Given the description of an element on the screen output the (x, y) to click on. 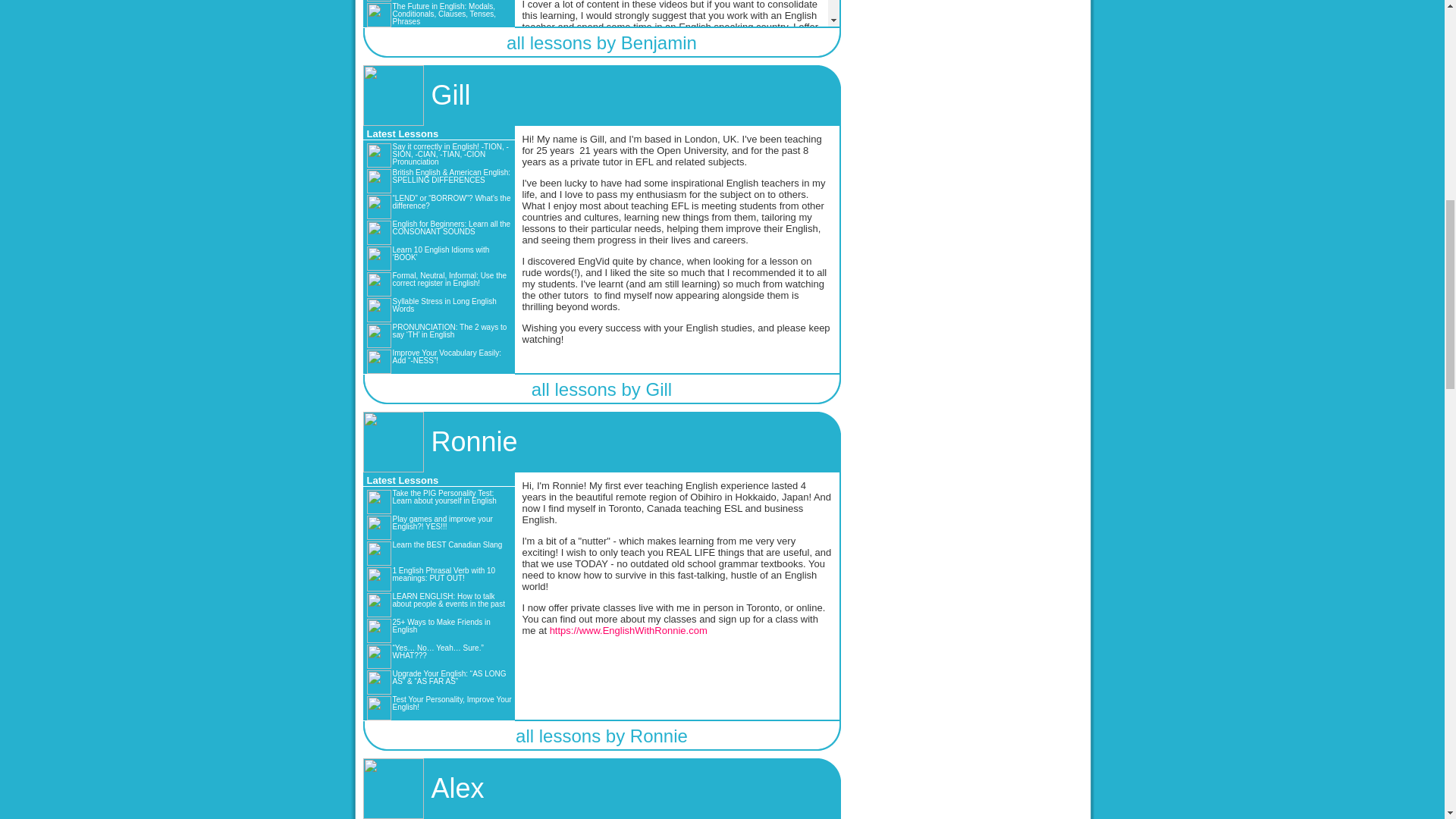
Advertisement (965, 17)
